Given the description of an element on the screen output the (x, y) to click on. 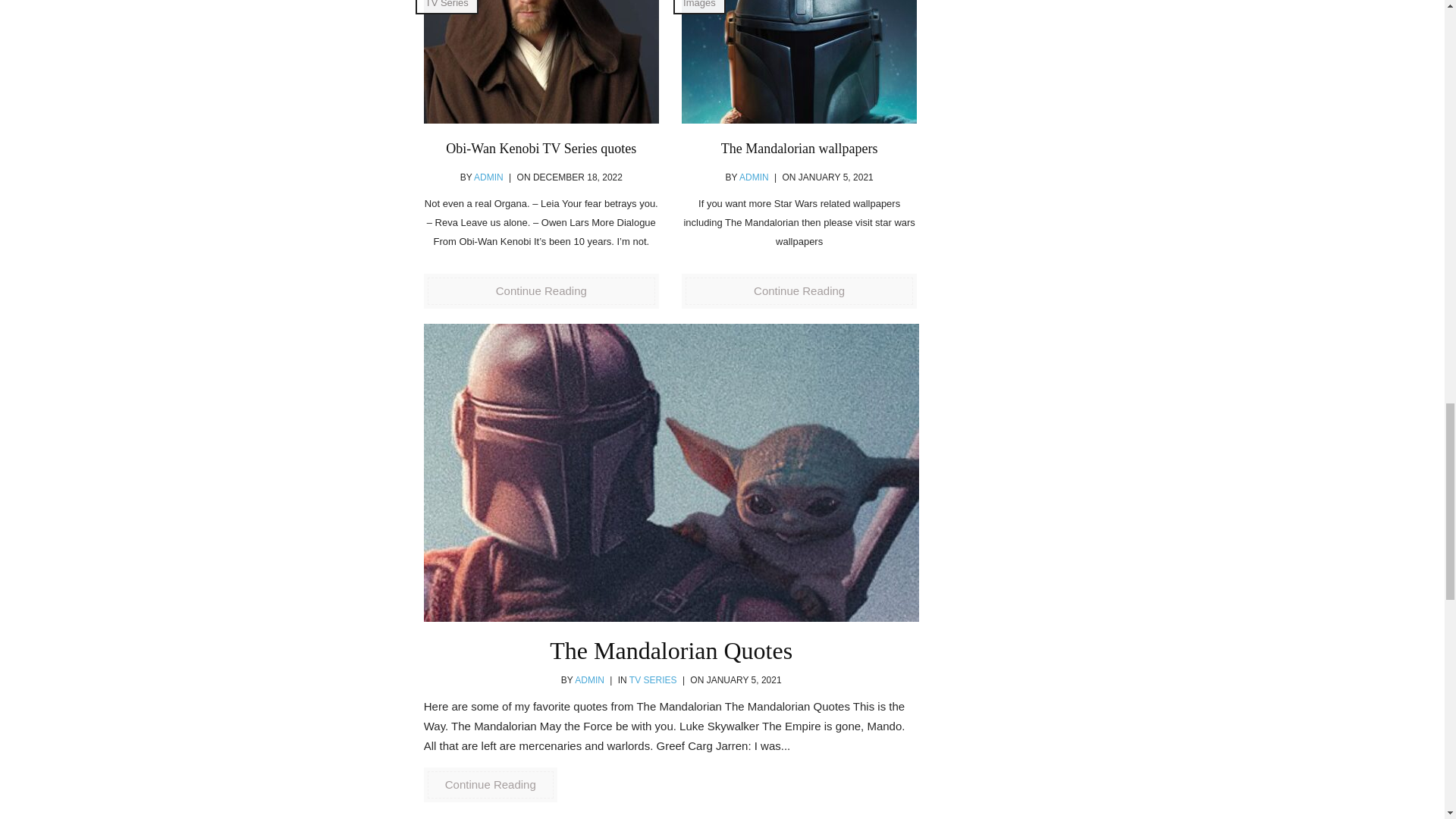
The Mandalorian wallpapers (799, 61)
Continue Reading (490, 784)
Continue Reading (799, 290)
ADMIN (488, 176)
Obi-Wan Kenobi TV Series quotes (541, 61)
The Mandalorian Quotes (671, 650)
Posts by admin (488, 176)
Obi-Wan Kenobi TV Series quotes (540, 148)
ADMIN (753, 176)
Continue Reading (541, 290)
